Given the description of an element on the screen output the (x, y) to click on. 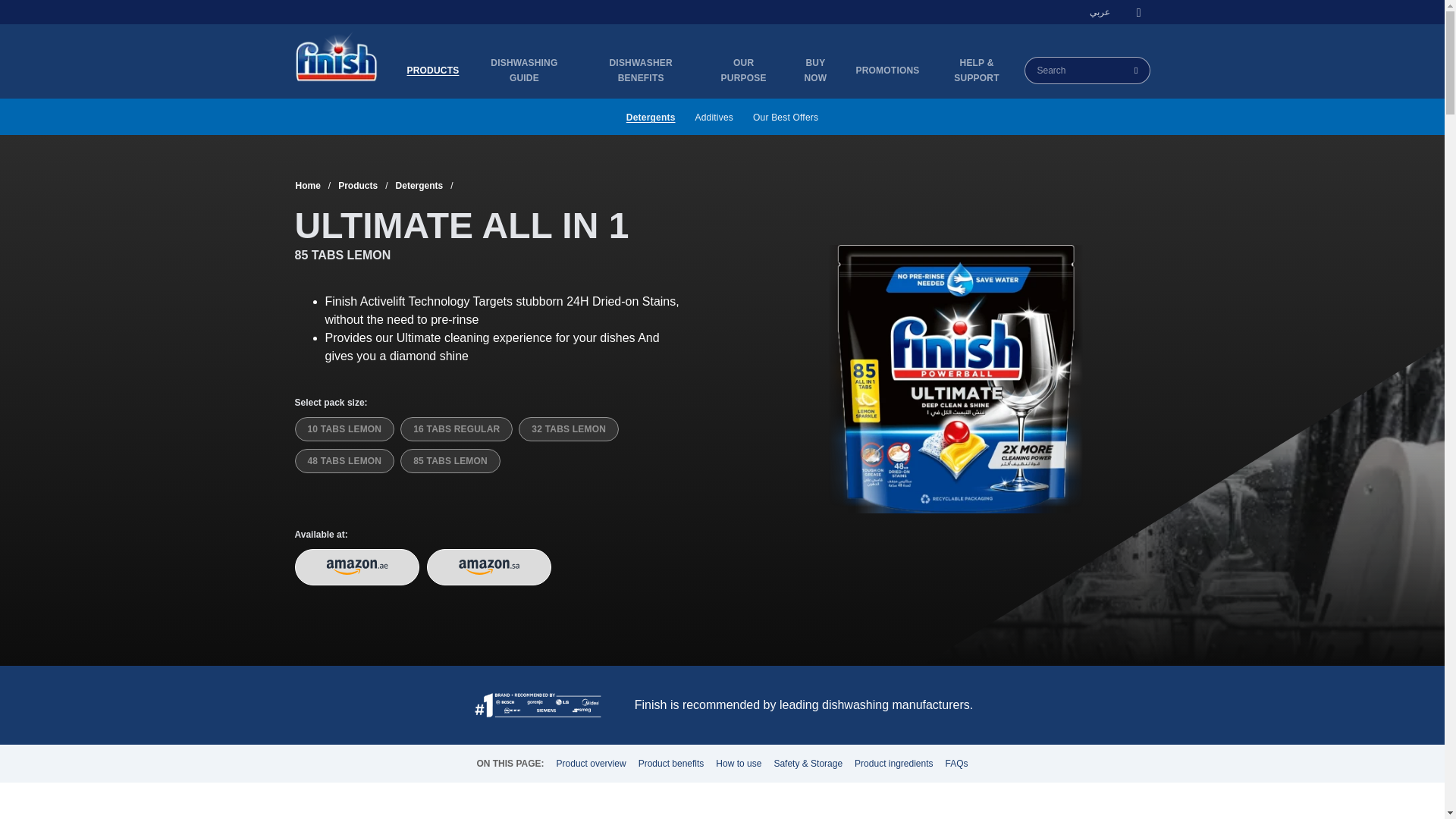
10 TABS LEMON (344, 428)
FAQs (956, 763)
Amazon KSA (488, 566)
Amazon UAE (357, 566)
BUY NOW (814, 70)
85 TABS LEMON (450, 460)
Product overview (591, 763)
32 TABS LEMON (568, 428)
48 TABS LEMON (344, 460)
Our Best Offers (785, 117)
